Given the description of an element on the screen output the (x, y) to click on. 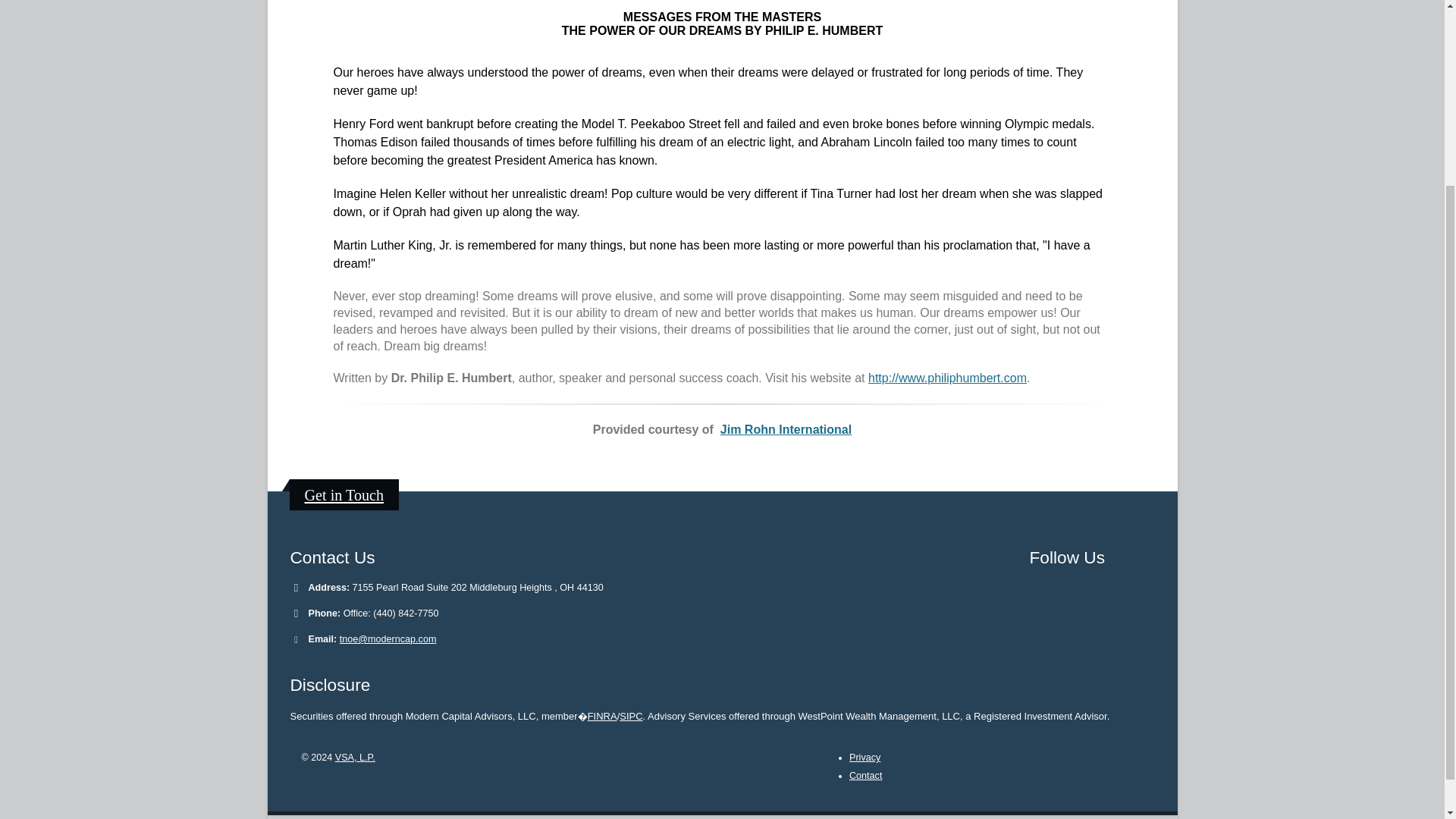
FINRA (602, 715)
VSA, L.P. (354, 757)
SIPC (631, 715)
Privacy (864, 757)
Get in Touch (344, 494)
Contact (865, 775)
Jim Rohn International (785, 429)
